Given the description of an element on the screen output the (x, y) to click on. 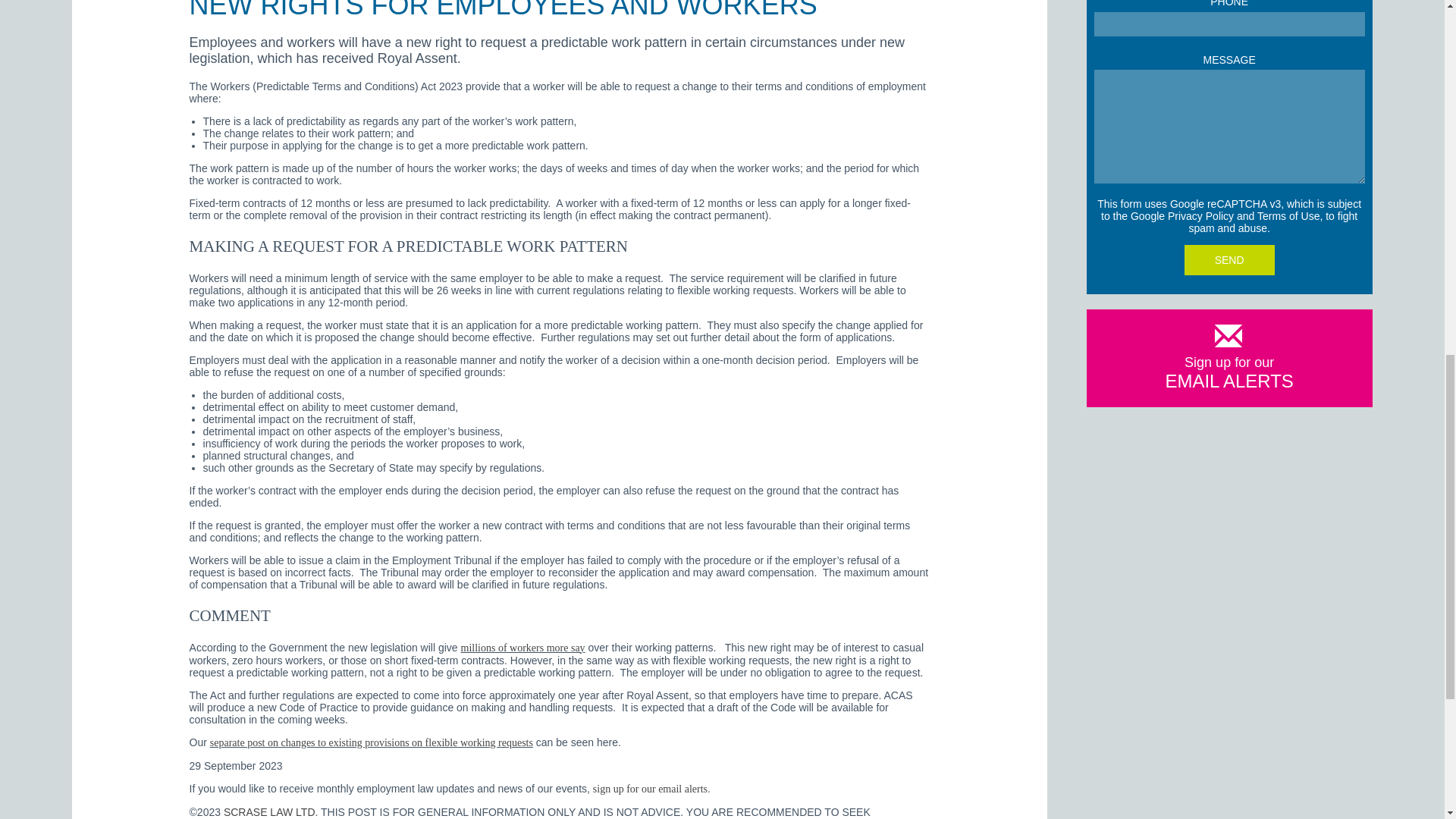
SCRASE LAW LTD (269, 811)
sign up for our email alerts (649, 788)
Send (1230, 259)
millions of workers more say (523, 647)
